Given the description of an element on the screen output the (x, y) to click on. 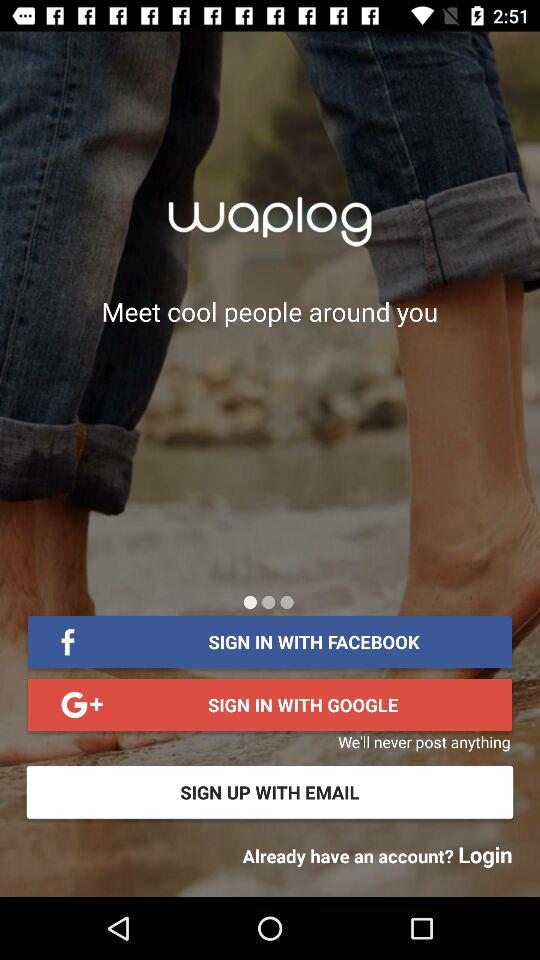
open item below the sign up with item (377, 854)
